Given the description of an element on the screen output the (x, y) to click on. 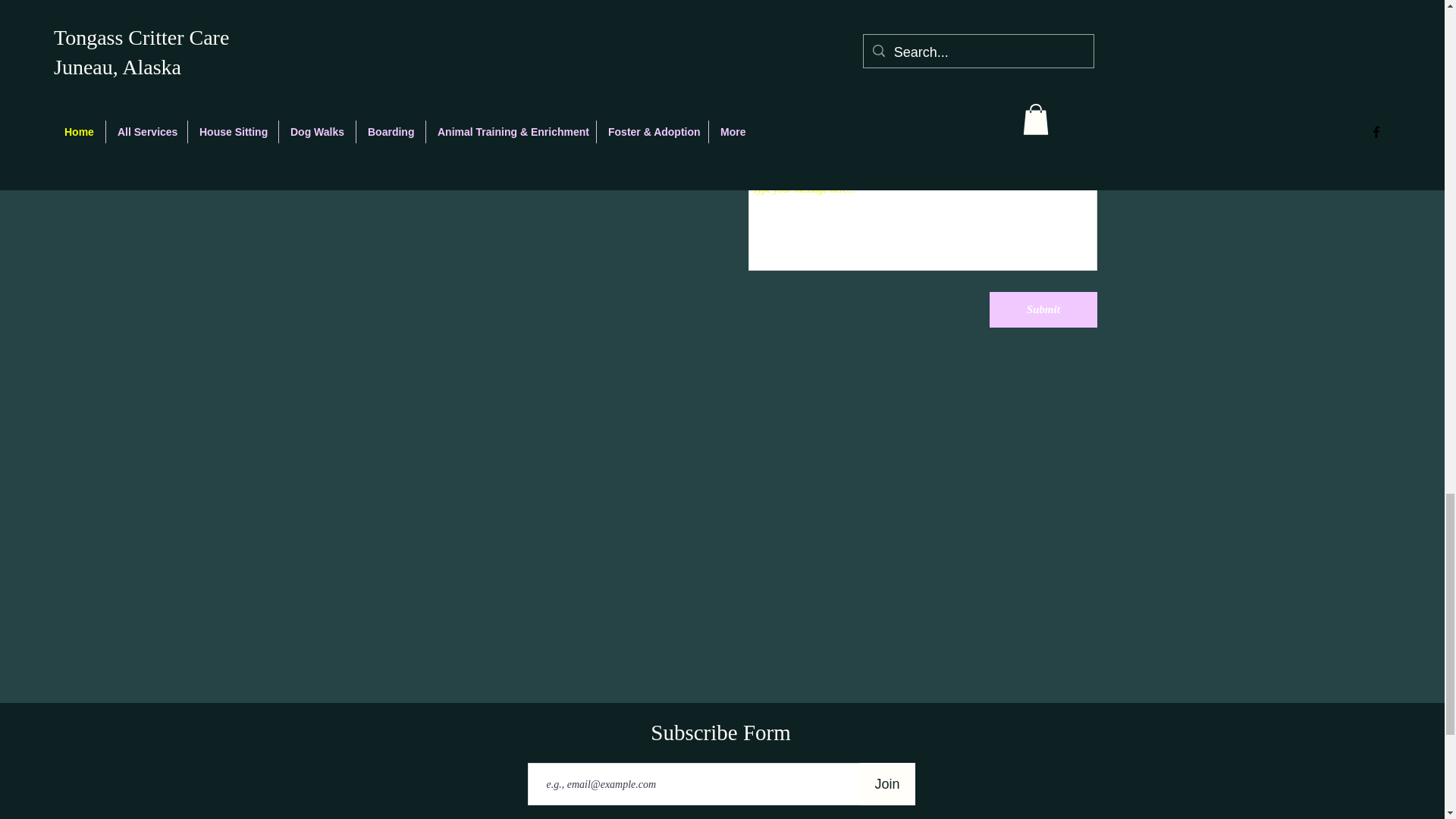
Join (887, 783)
Employment Opportunities (360, 6)
Submit (1043, 308)
